Given the description of an element on the screen output the (x, y) to click on. 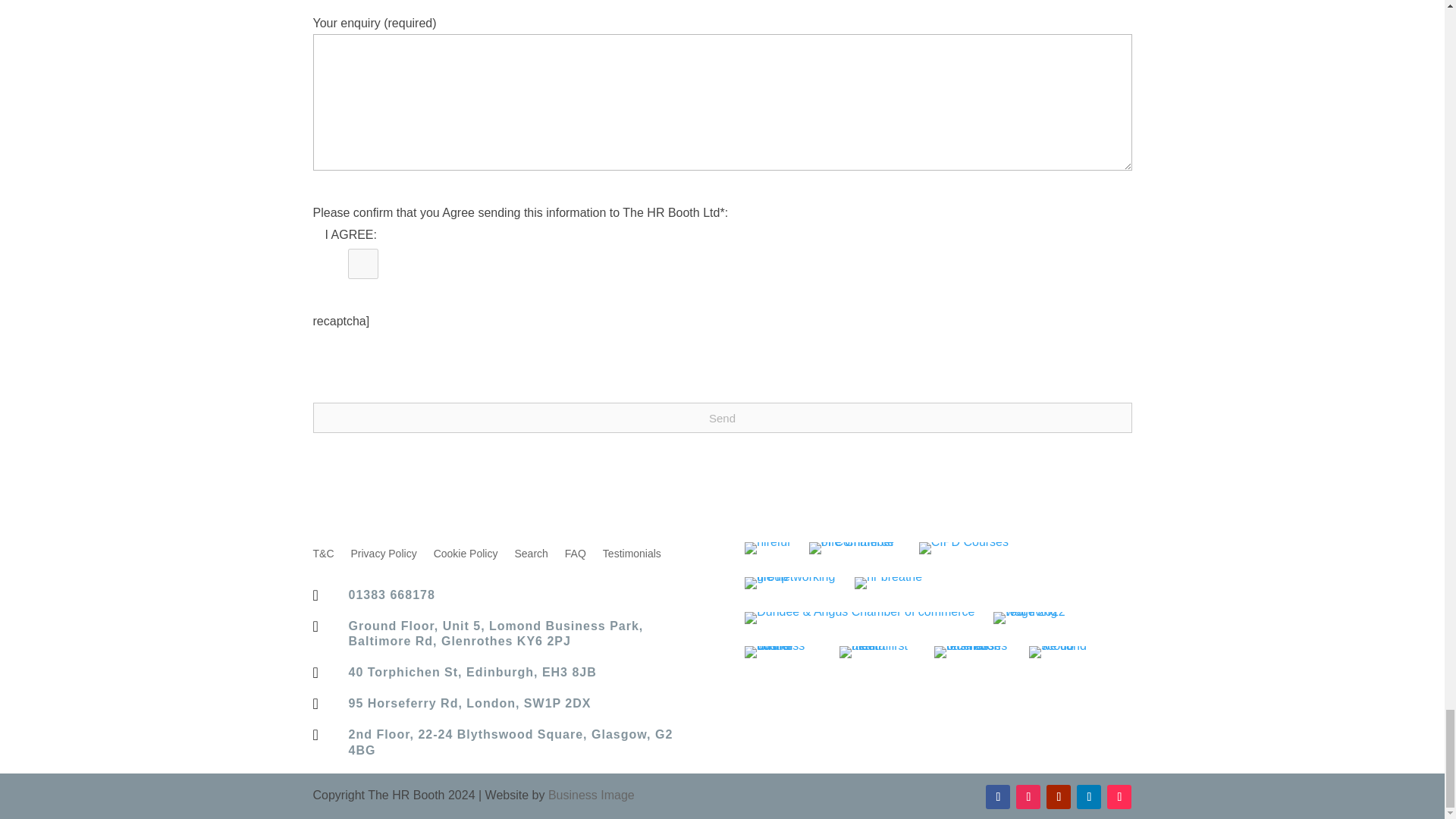
Follow on Facebook (997, 796)
I AGREE: (362, 263)
cipd-logo (963, 548)
Cookie Policy (465, 556)
FAQ (575, 556)
Testimonials (631, 556)
Partner-Badge-GOLD-png-300x265 (887, 582)
download (767, 548)
Follow on Youtube (1058, 796)
Follow on LinkedIn (1088, 796)
